Given the description of an element on the screen output the (x, y) to click on. 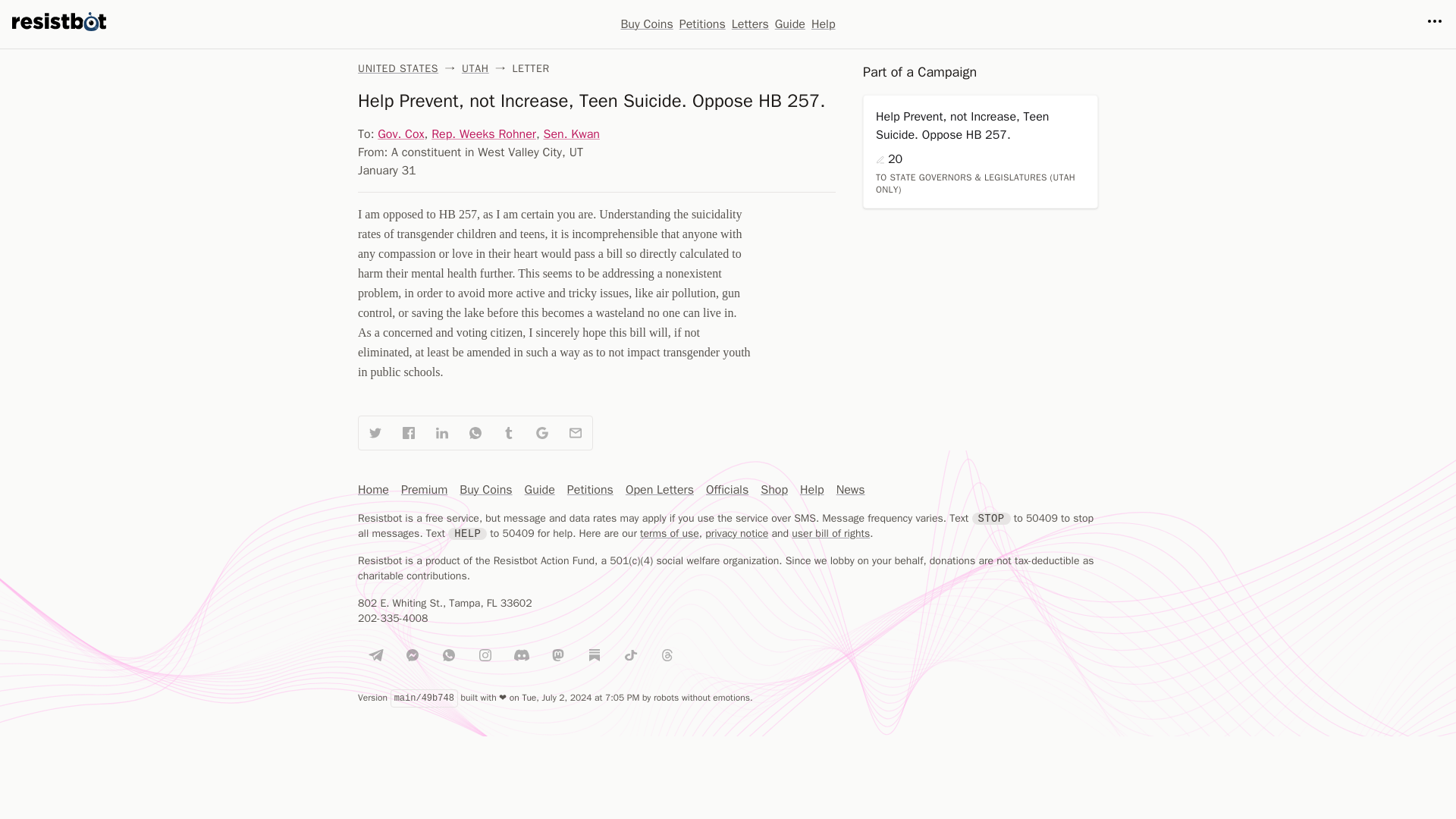
terms of use (669, 533)
News (849, 489)
Guide (789, 24)
Help (822, 24)
Gov. Cox (400, 133)
Help (811, 489)
Petitions (702, 24)
privacy notice (736, 533)
Buy Coins (486, 489)
user bill of rights (830, 533)
Petitions (589, 489)
Officials (727, 489)
Guide (539, 489)
Rep. Weeks Rohner (482, 133)
Signers (880, 159)
